Given the description of an element on the screen output the (x, y) to click on. 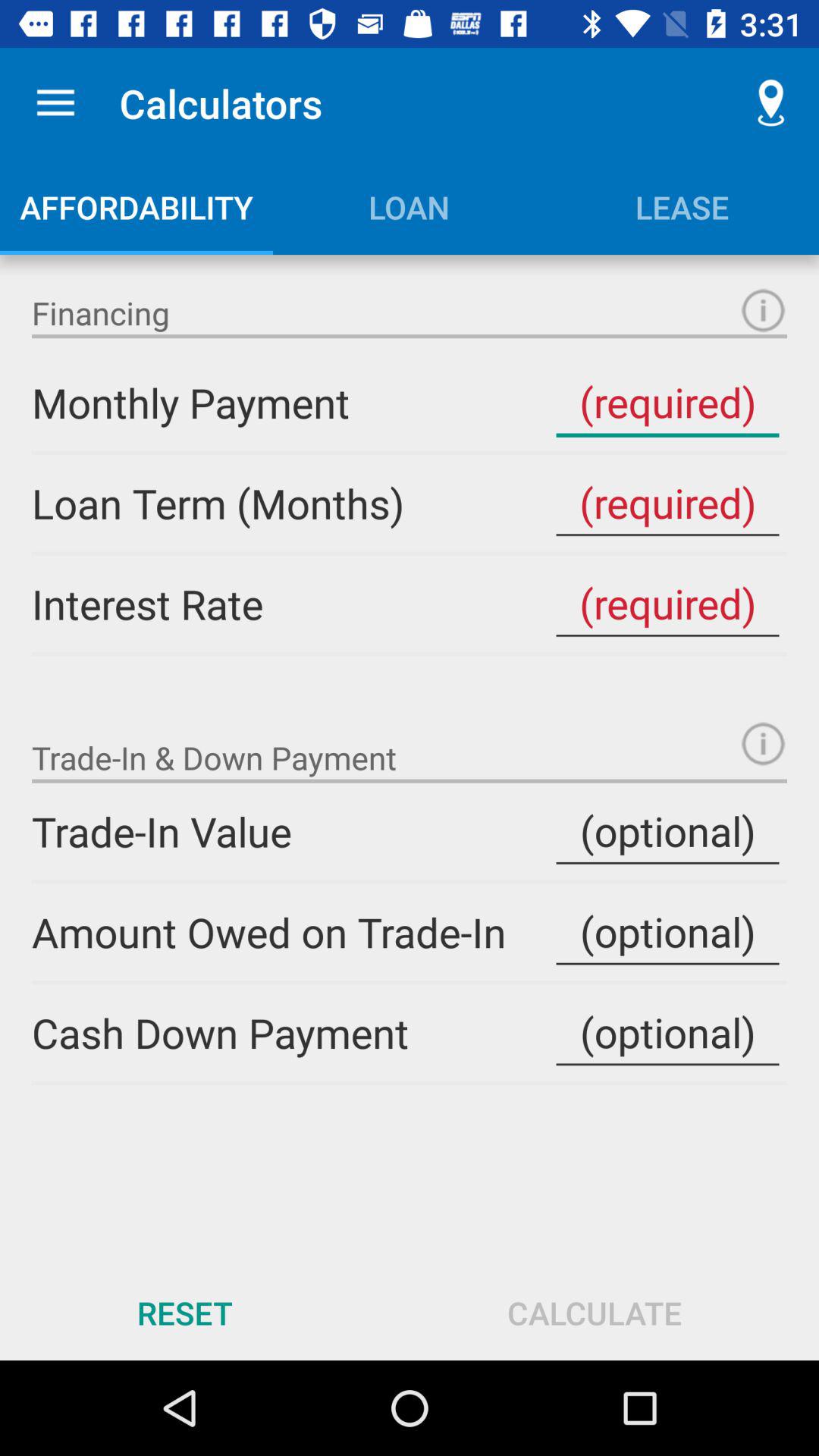
tap item next to financing item (763, 310)
